Given the description of an element on the screen output the (x, y) to click on. 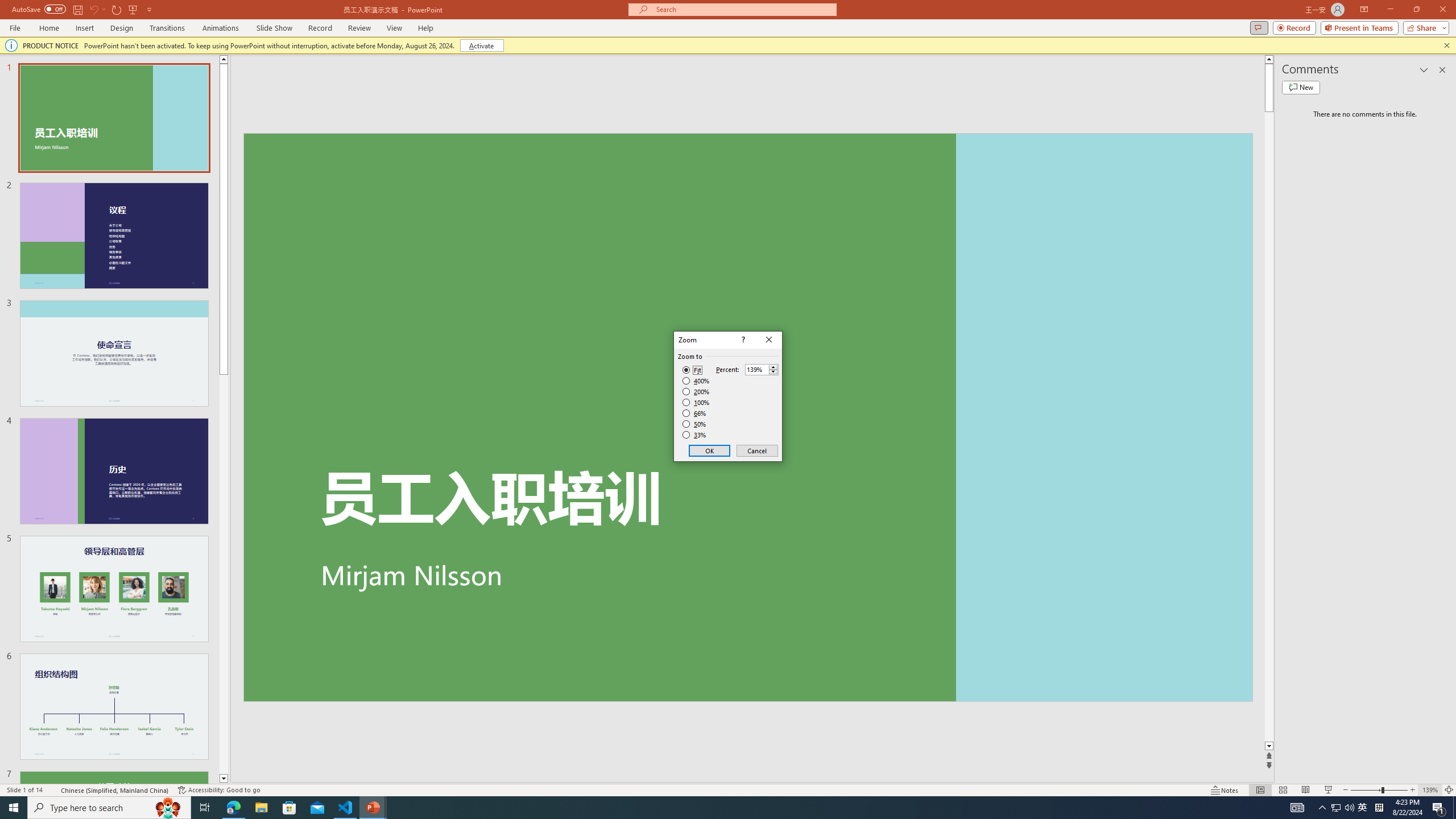
Search for help (1294, 119)
Microsoft 365 (413, 117)
Sign in to your account (1342, 120)
Microsoft (191, 121)
